Given the description of an element on the screen output the (x, y) to click on. 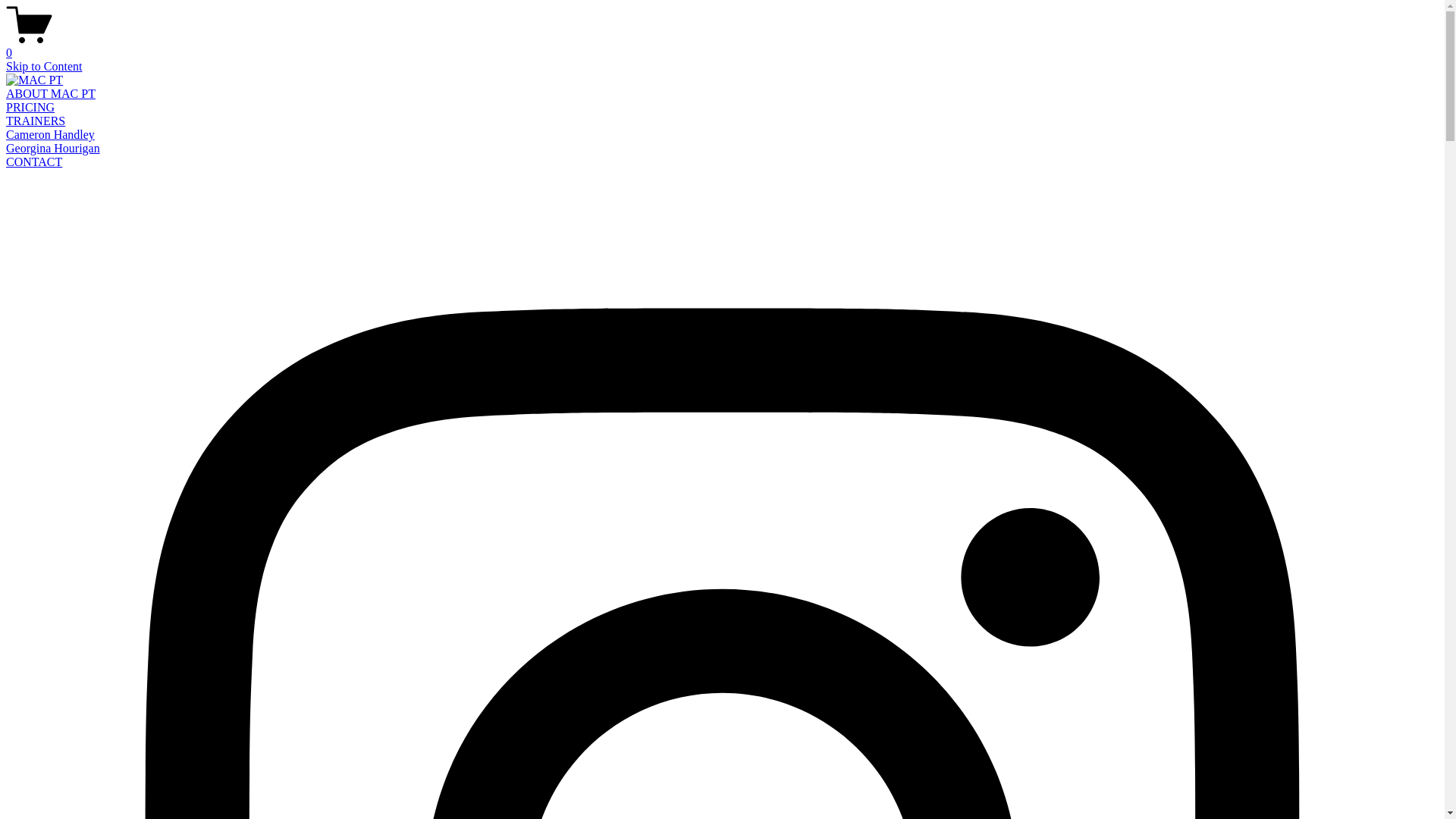
Cameron Handley Element type: text (50, 134)
Skip to Content Element type: text (43, 65)
0 Element type: text (722, 45)
TRAINERS Element type: text (35, 120)
Georgina Hourigan Element type: text (53, 147)
CONTACT Element type: text (34, 161)
ABOUT MAC PT Element type: text (50, 93)
PRICING Element type: text (30, 106)
